Given the description of an element on the screen output the (x, y) to click on. 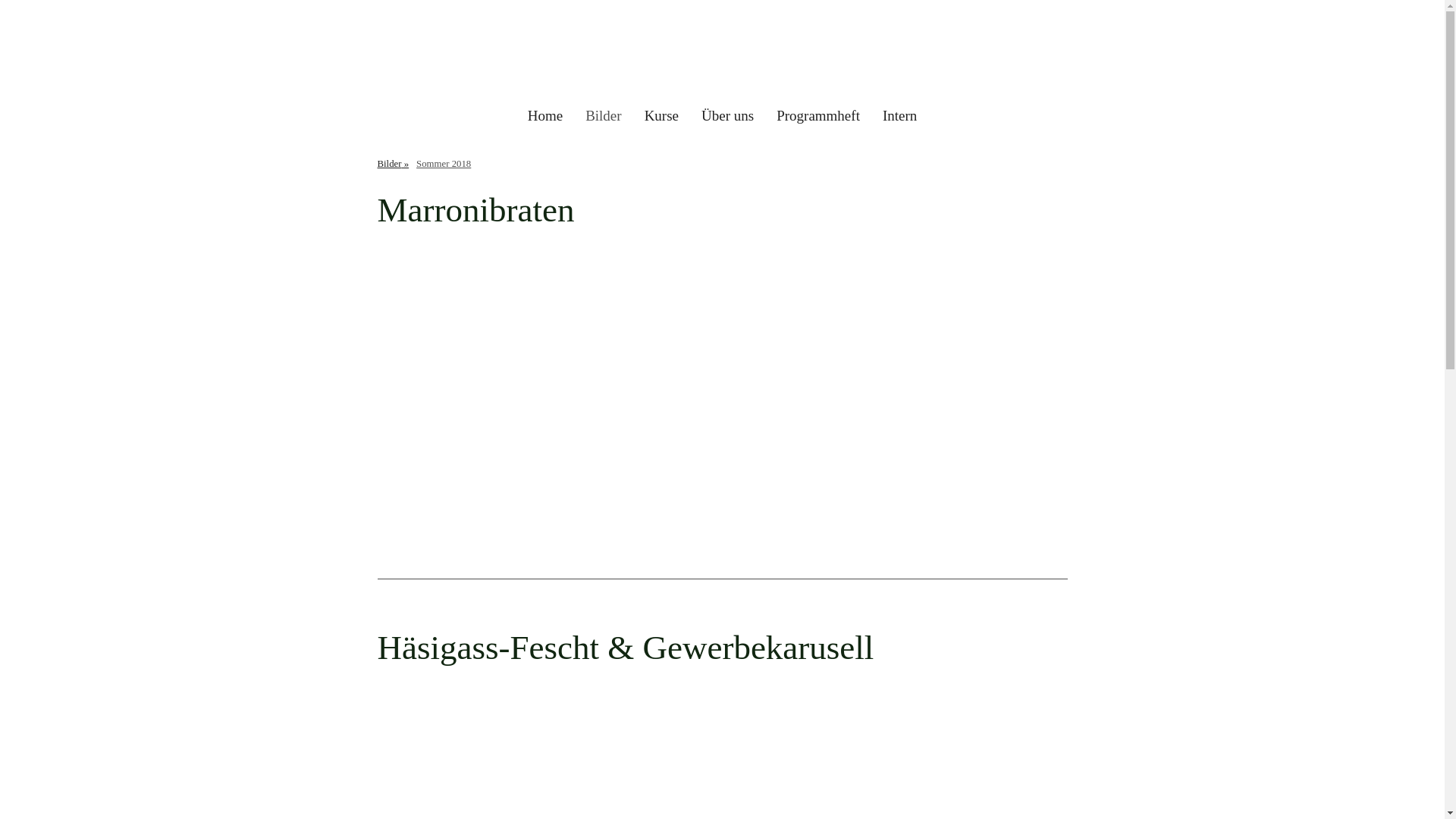
Bilder Element type: text (392, 162)
Sommer 2018 Element type: text (443, 162)
Home Element type: text (545, 116)
Bilder Element type: text (603, 116)
Programmheft Element type: text (818, 116)
Kurse Element type: text (661, 116)
Intern Element type: text (899, 116)
